Given the description of an element on the screen output the (x, y) to click on. 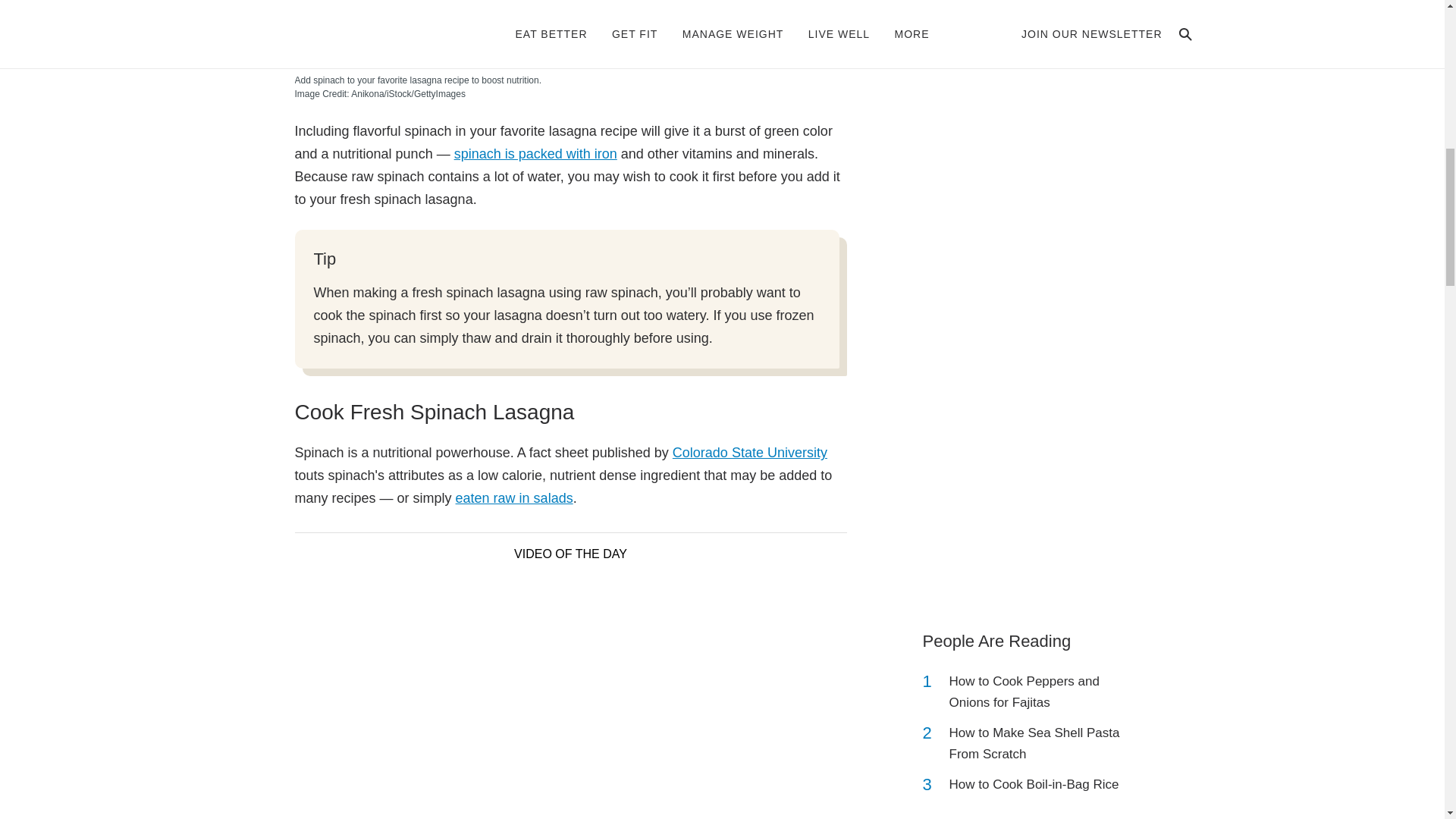
How to Make Sea Shell Pasta From Scratch (1042, 743)
Colorado State University (749, 452)
spinach is packed with iron (535, 153)
How to Cook Boil-in-Bag Rice (1034, 784)
How to Cook Peppers and Onions for Fajitas (1042, 691)
eaten raw in salads (514, 498)
